Given the description of an element on the screen output the (x, y) to click on. 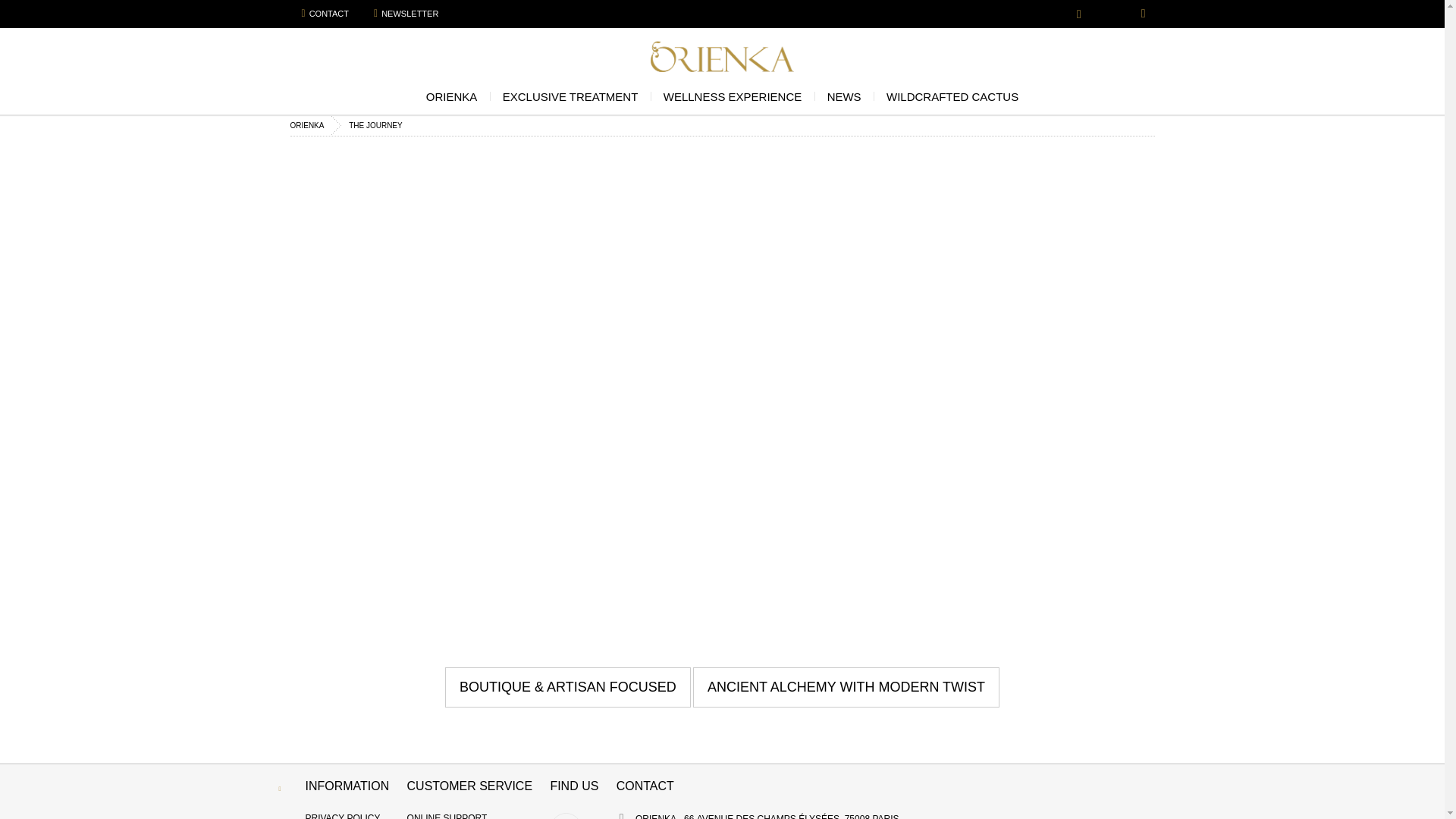
Language (1081, 16)
NEWSLETTER (405, 13)
ORIENKA (722, 56)
CONTACT (324, 13)
EXCLUSIVE TREATMENT (570, 99)
ORIENKA (451, 99)
